Given the description of an element on the screen output the (x, y) to click on. 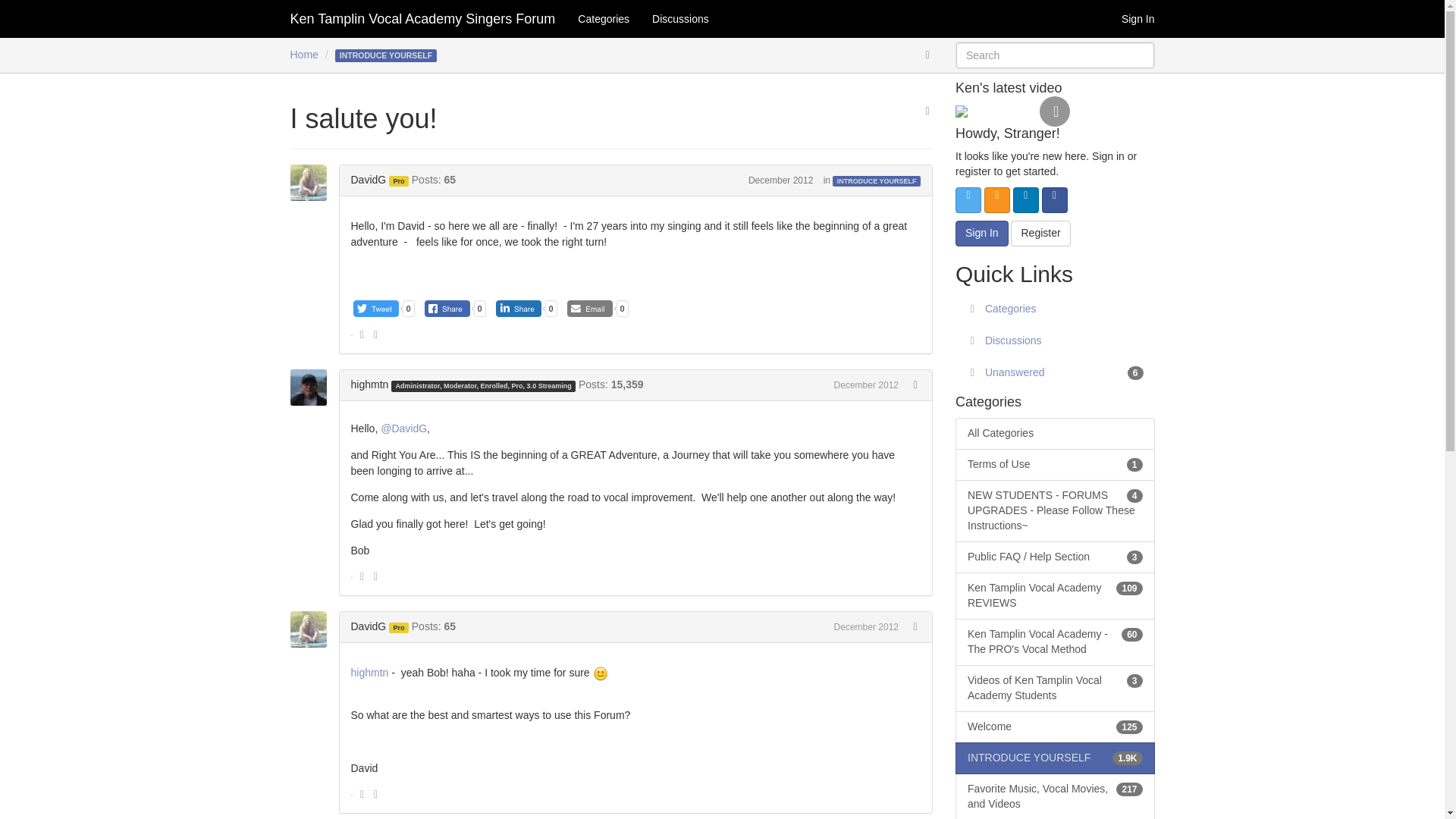
Home (303, 54)
December 28, 2012 11:44PM (866, 385)
Discussions (680, 18)
Ken Tamplin Vocal Academy Singers Forum (423, 18)
DavidG (311, 182)
INTRODUCE YOURSELF (876, 181)
highmtn (311, 387)
INTRODUCE YOURSELF (386, 54)
DavidG (367, 179)
December 29, 2012 12:18PM (866, 626)
December 2012 (866, 385)
Categories (603, 18)
highmtn (369, 384)
Sign In (1137, 18)
Enter your search term. (1055, 54)
